Given the description of an element on the screen output the (x, y) to click on. 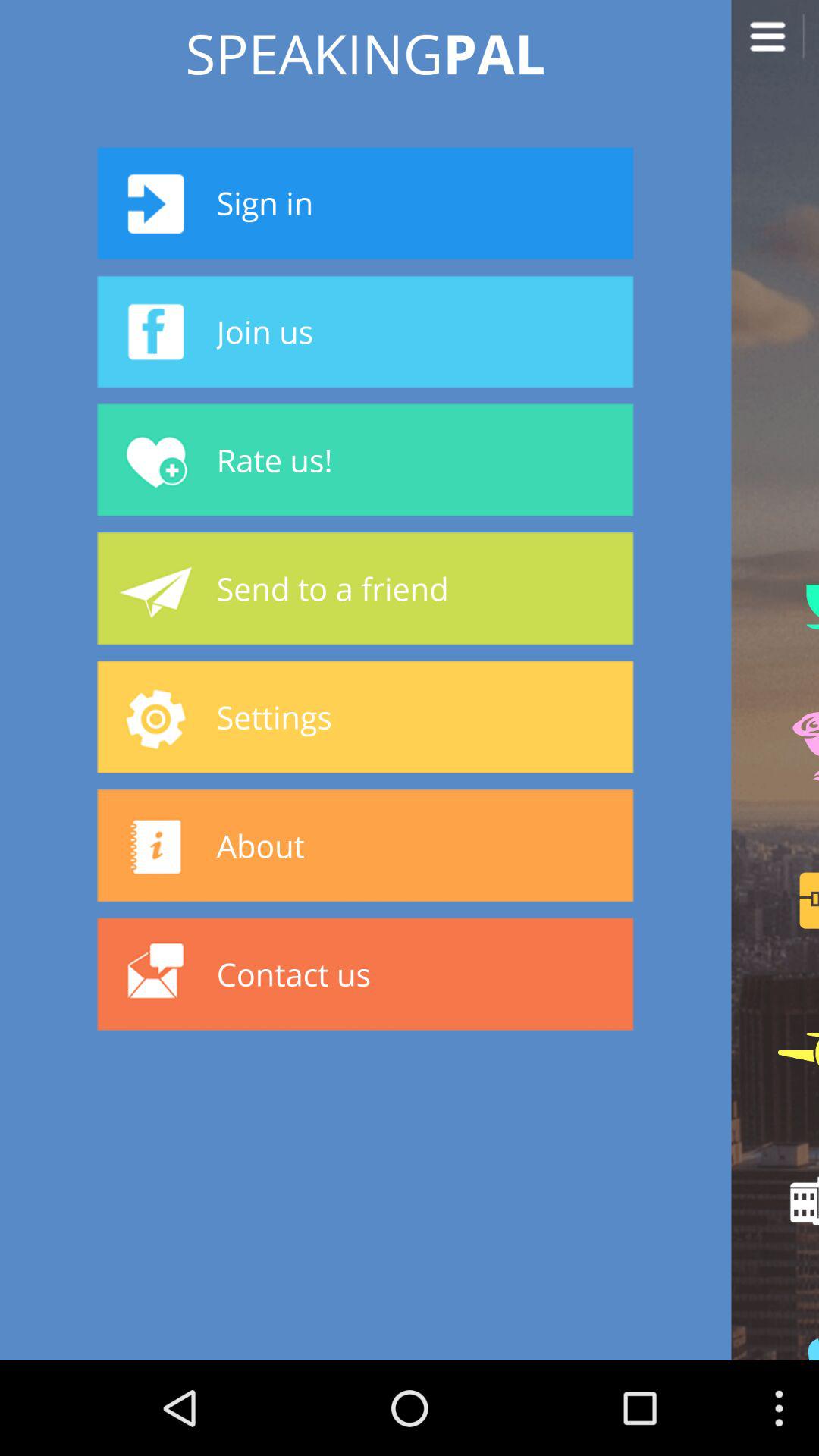
open menu (775, 43)
